Given the description of an element on the screen output the (x, y) to click on. 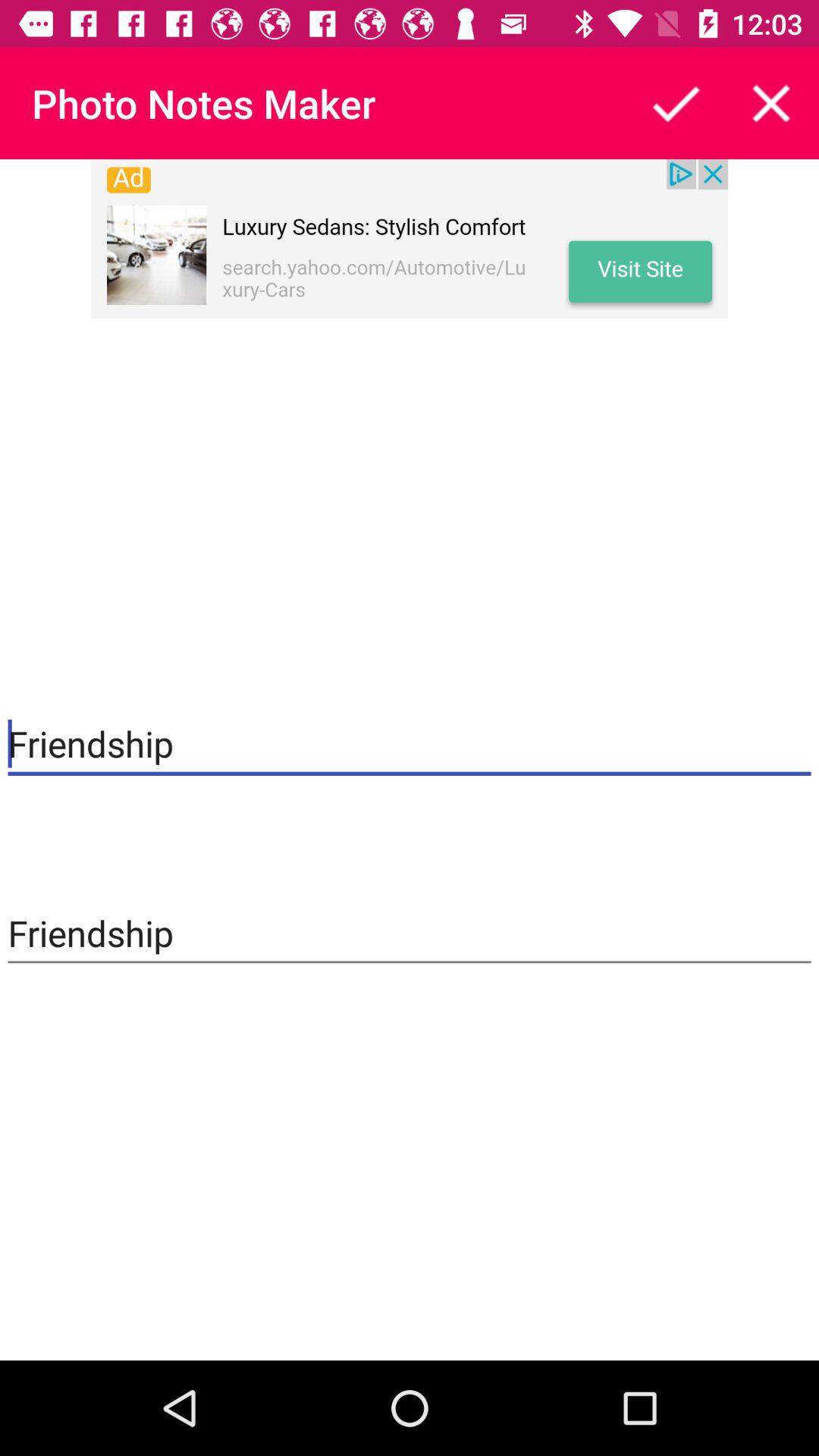
toggle close option (771, 103)
